Given the description of an element on the screen output the (x, y) to click on. 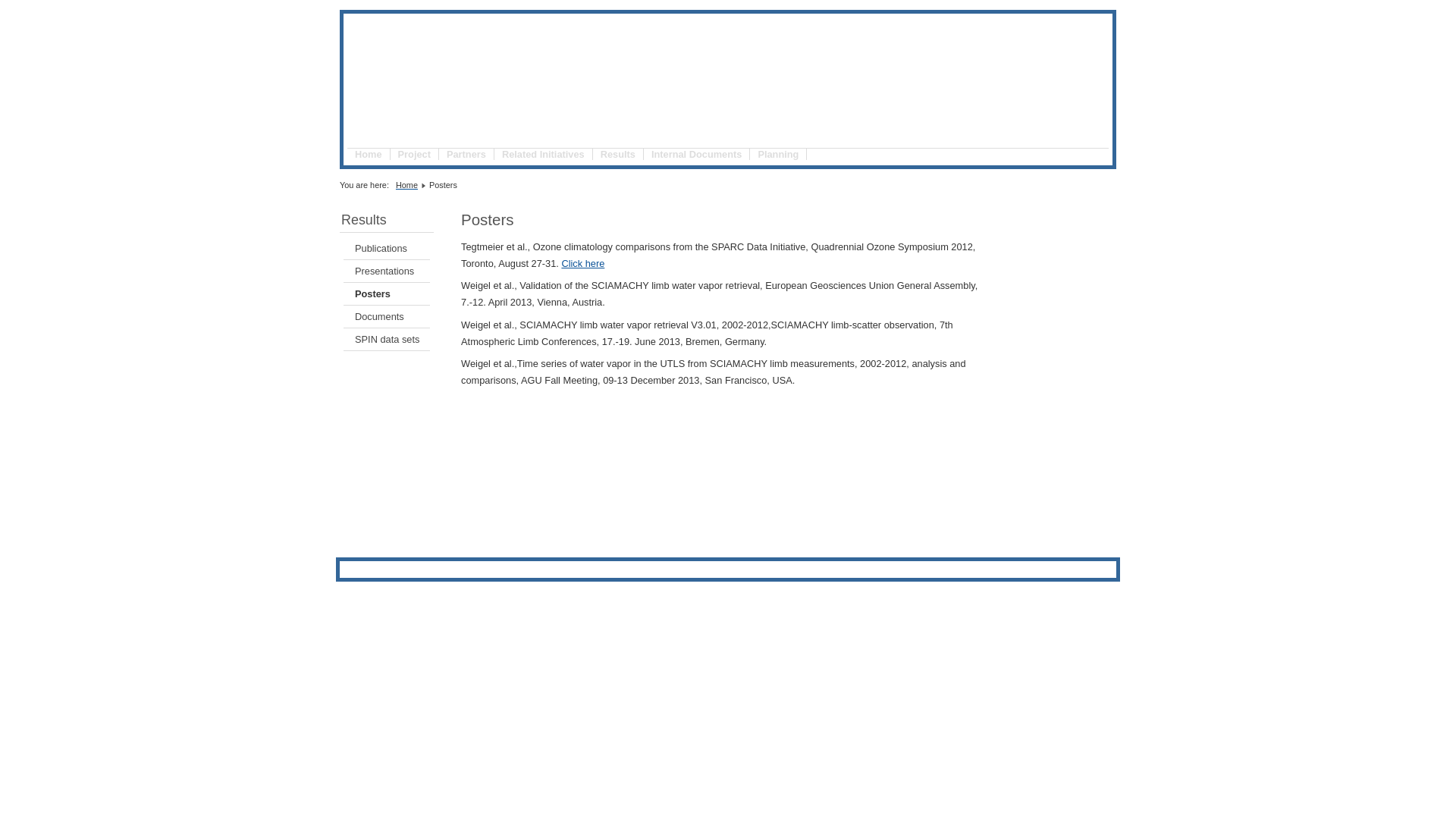
Results Element type: text (618, 154)
Home Element type: text (406, 184)
Planning Element type: text (777, 154)
Posters Element type: text (386, 293)
Project Element type: text (414, 154)
Internal Documents Element type: text (696, 154)
Click here Element type: text (582, 263)
SPIN data sets Element type: text (386, 339)
Publications Element type: text (386, 248)
Related Initiatives Element type: text (543, 154)
Documents Element type: text (386, 316)
Partners Element type: text (466, 154)
Home Element type: text (368, 154)
Presentations Element type: text (386, 271)
